Given the description of an element on the screen output the (x, y) to click on. 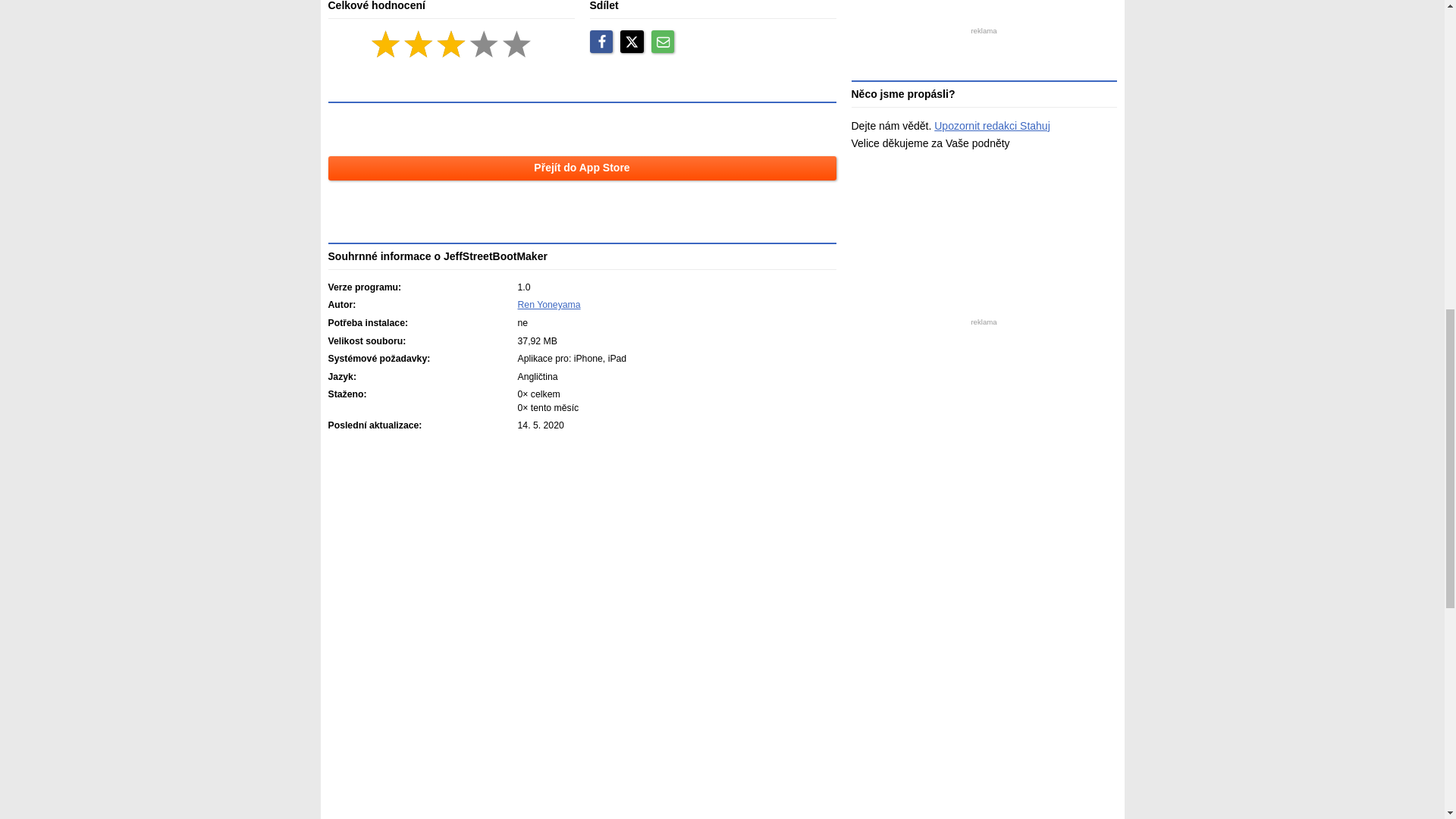
Ren Yoneyama (547, 304)
